Given the description of an element on the screen output the (x, y) to click on. 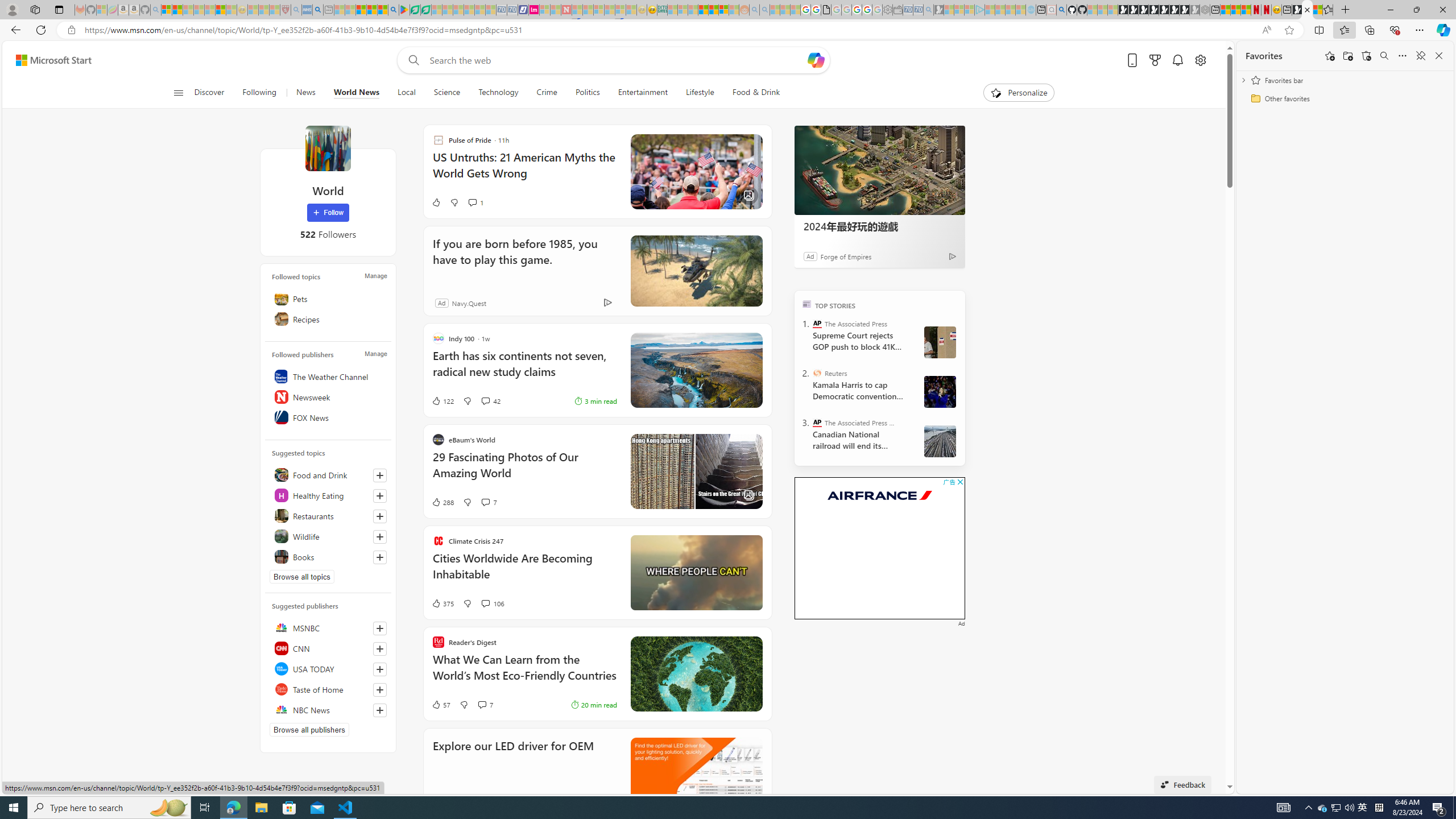
Utah sues federal government - Search - Sleeping (764, 9)
eBaum's World29 Fascinating Photos of Our Amazing World288 (596, 471)
29 Fascinating Photos of Our Amazing World (524, 470)
View comments 42 Comment (485, 400)
